Given the description of an element on the screen output the (x, y) to click on. 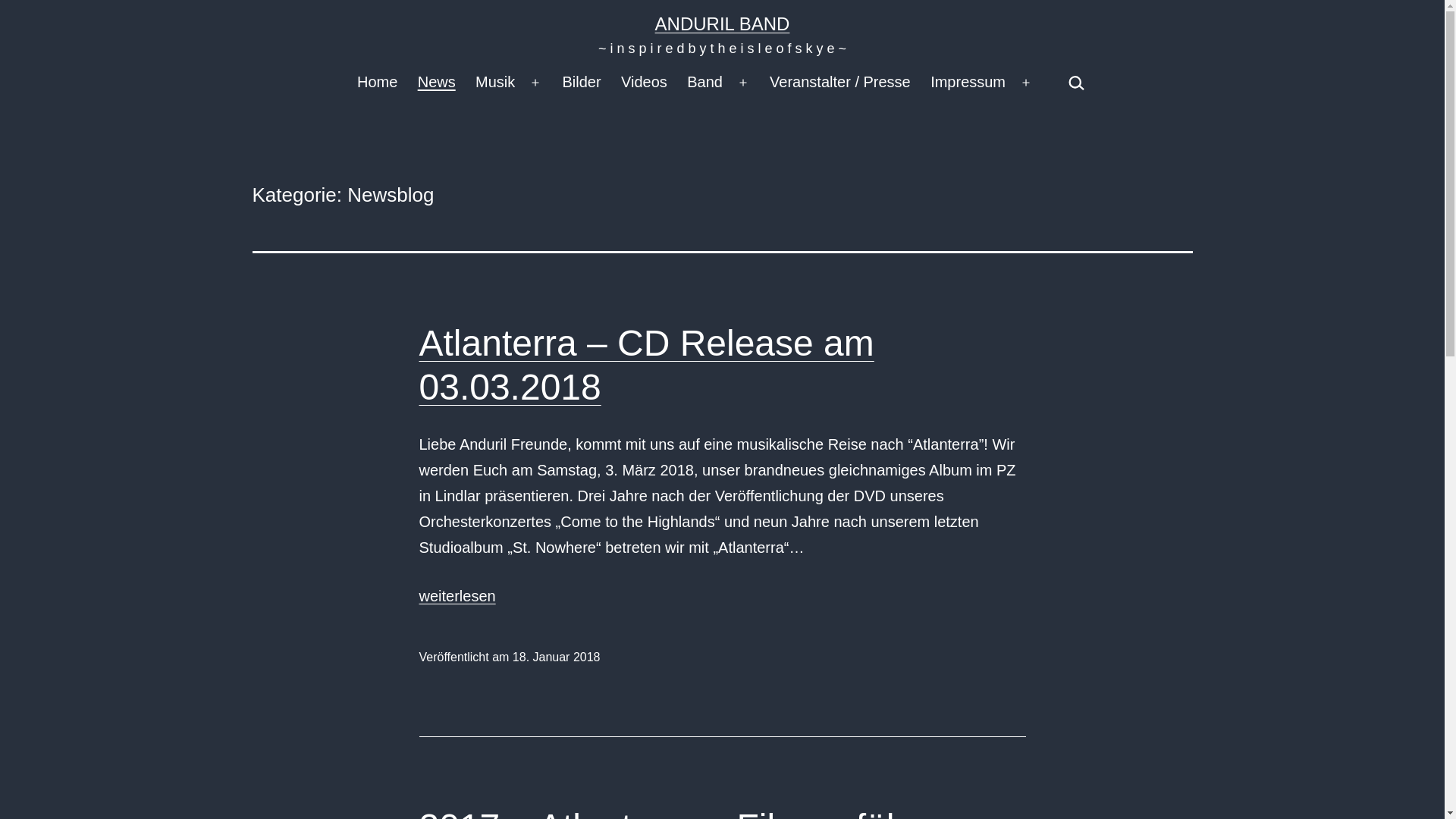
Veranstalter / Presse Element type: text (839, 82)
Bilder Element type: text (581, 82)
Videos Element type: text (644, 82)
Impressum Element type: text (967, 82)
Home Element type: text (377, 82)
Band Element type: text (704, 82)
Musik Element type: text (495, 82)
News Element type: text (436, 82)
ANDURIL BAND Element type: text (722, 23)
